Given the description of an element on the screen output the (x, y) to click on. 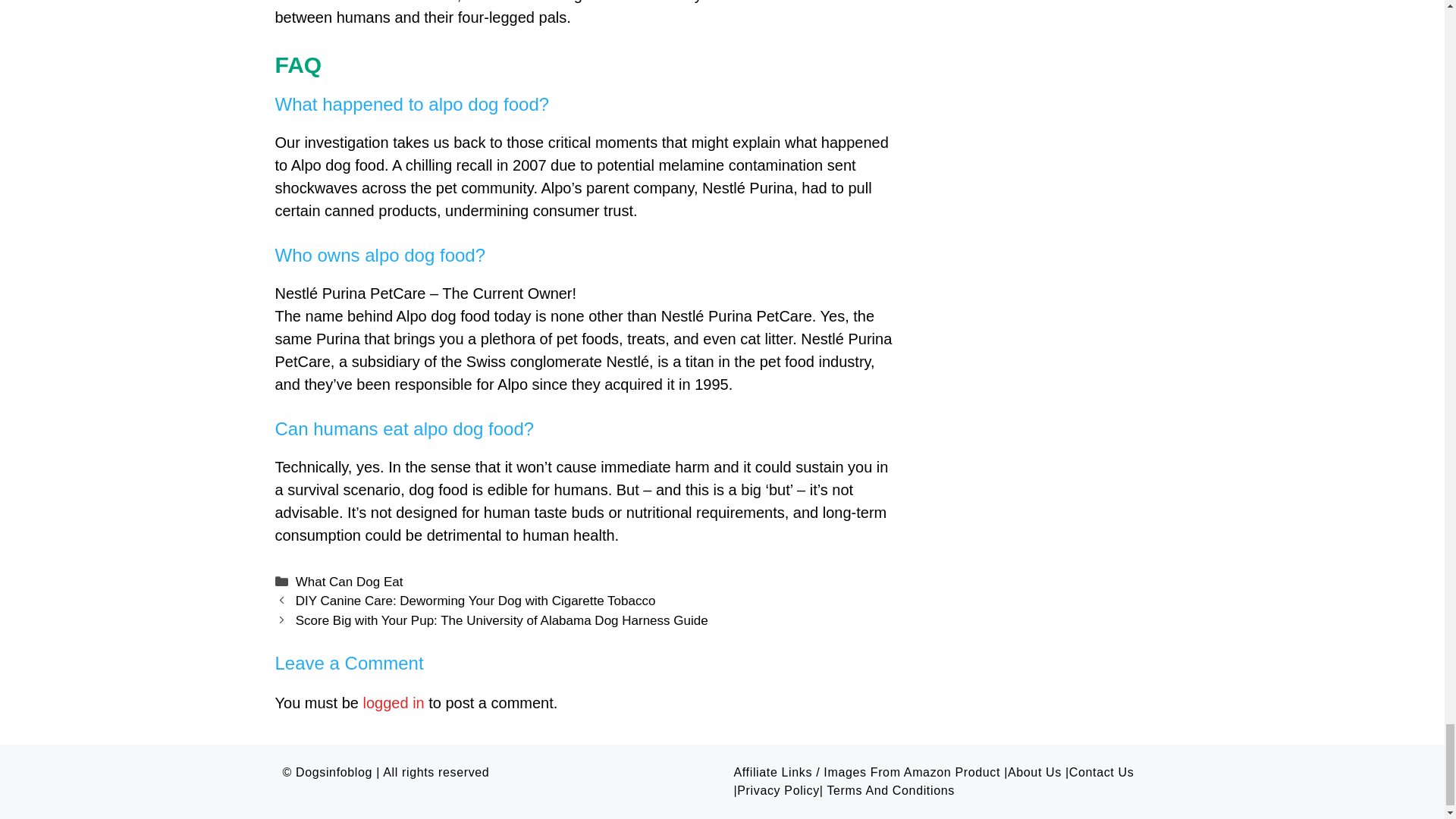
logged in (393, 702)
About Us (1034, 771)
Terms And Conditions (890, 789)
DIY Canine Care: Deworming Your Dog with Cigarette Tobacco (475, 600)
Contact Us (1101, 771)
What Can Dog Eat (349, 581)
